Given the description of an element on the screen output the (x, y) to click on. 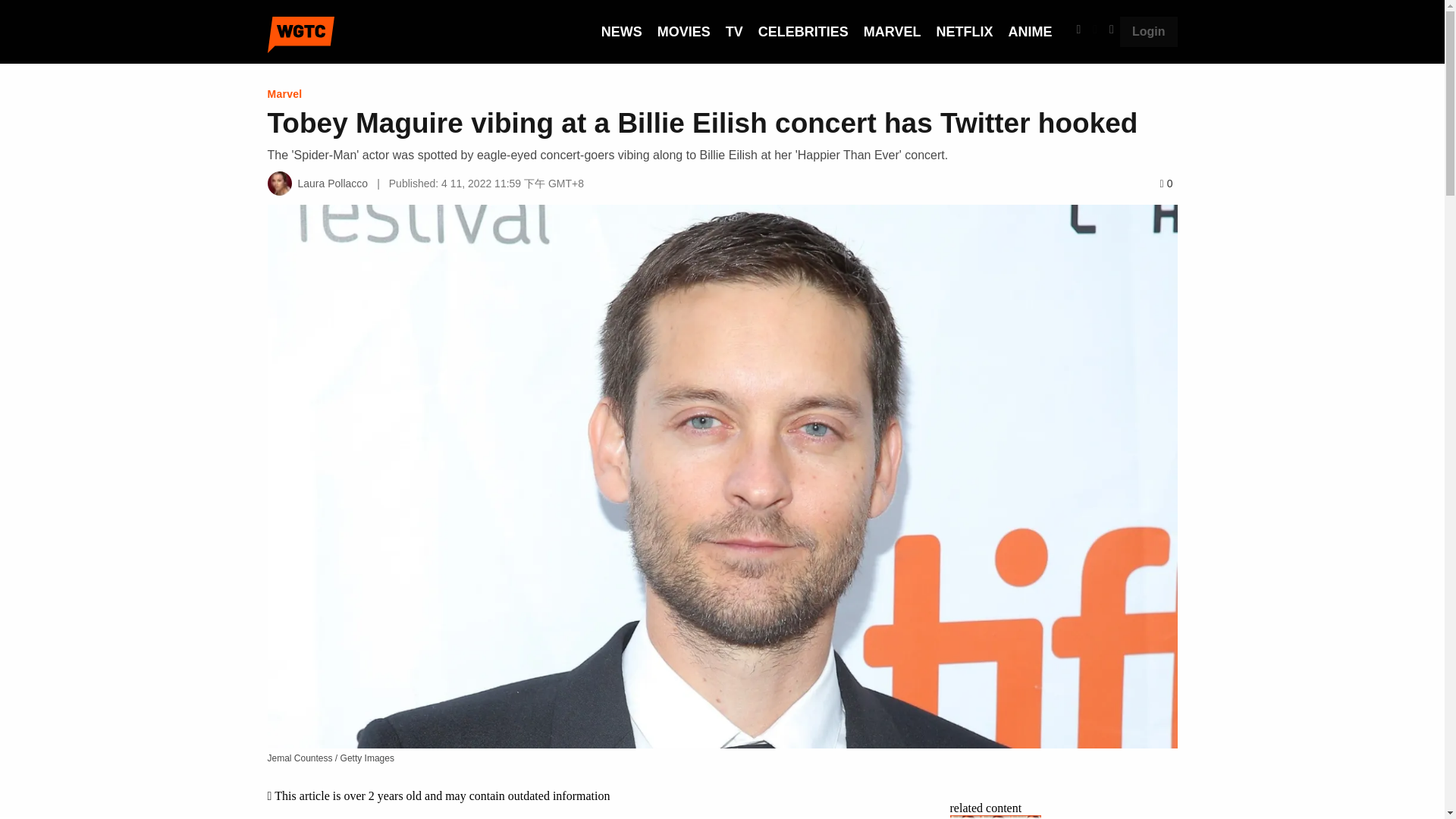
NETFLIX (964, 31)
CELEBRITIES (803, 31)
MOVIES (684, 31)
MARVEL (892, 31)
Login (1148, 31)
NEWS (621, 31)
TV (733, 31)
ANIME (1029, 31)
